Given the description of an element on the screen output the (x, y) to click on. 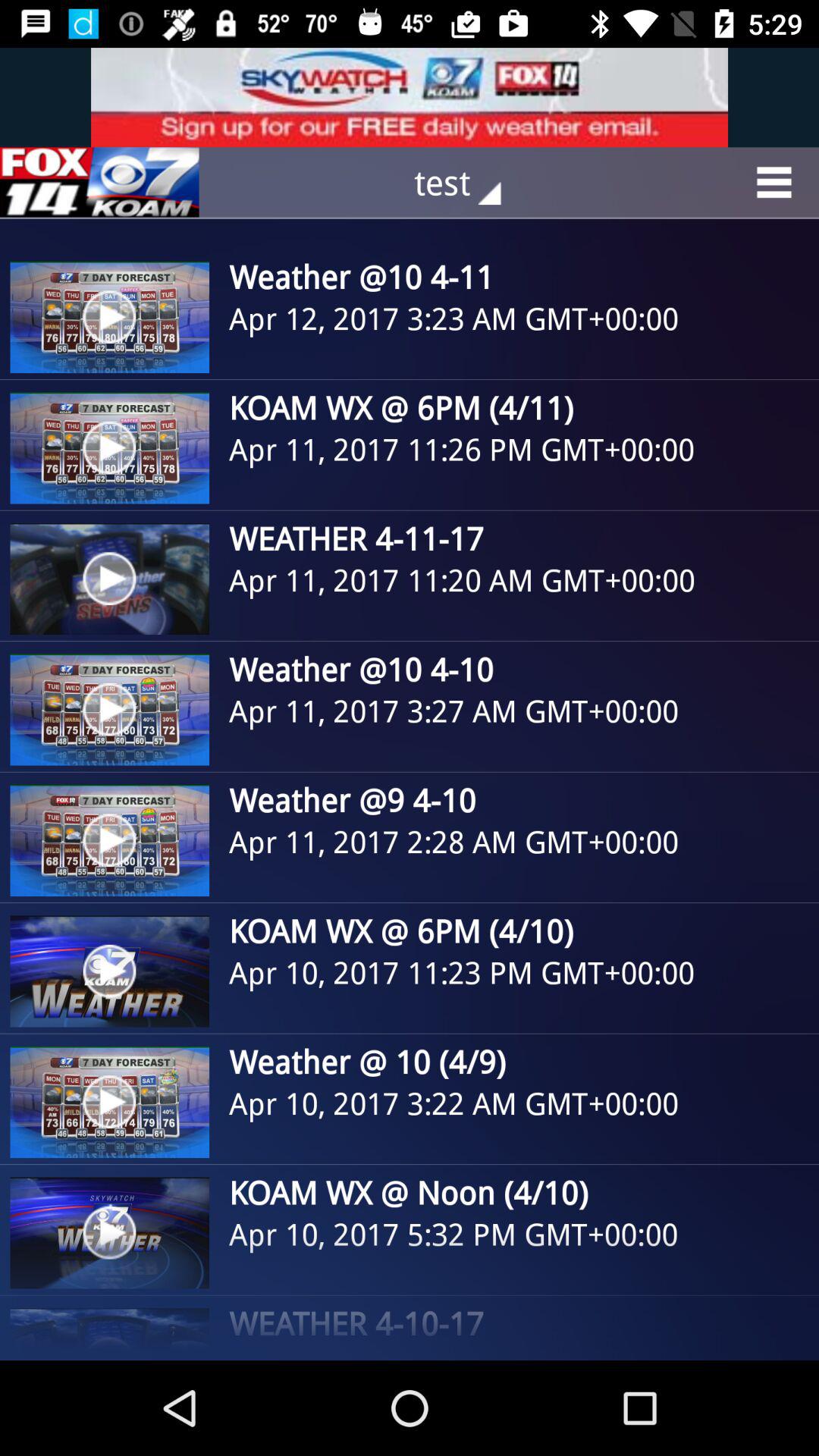
go to advertisements button (99, 182)
